Given the description of an element on the screen output the (x, y) to click on. 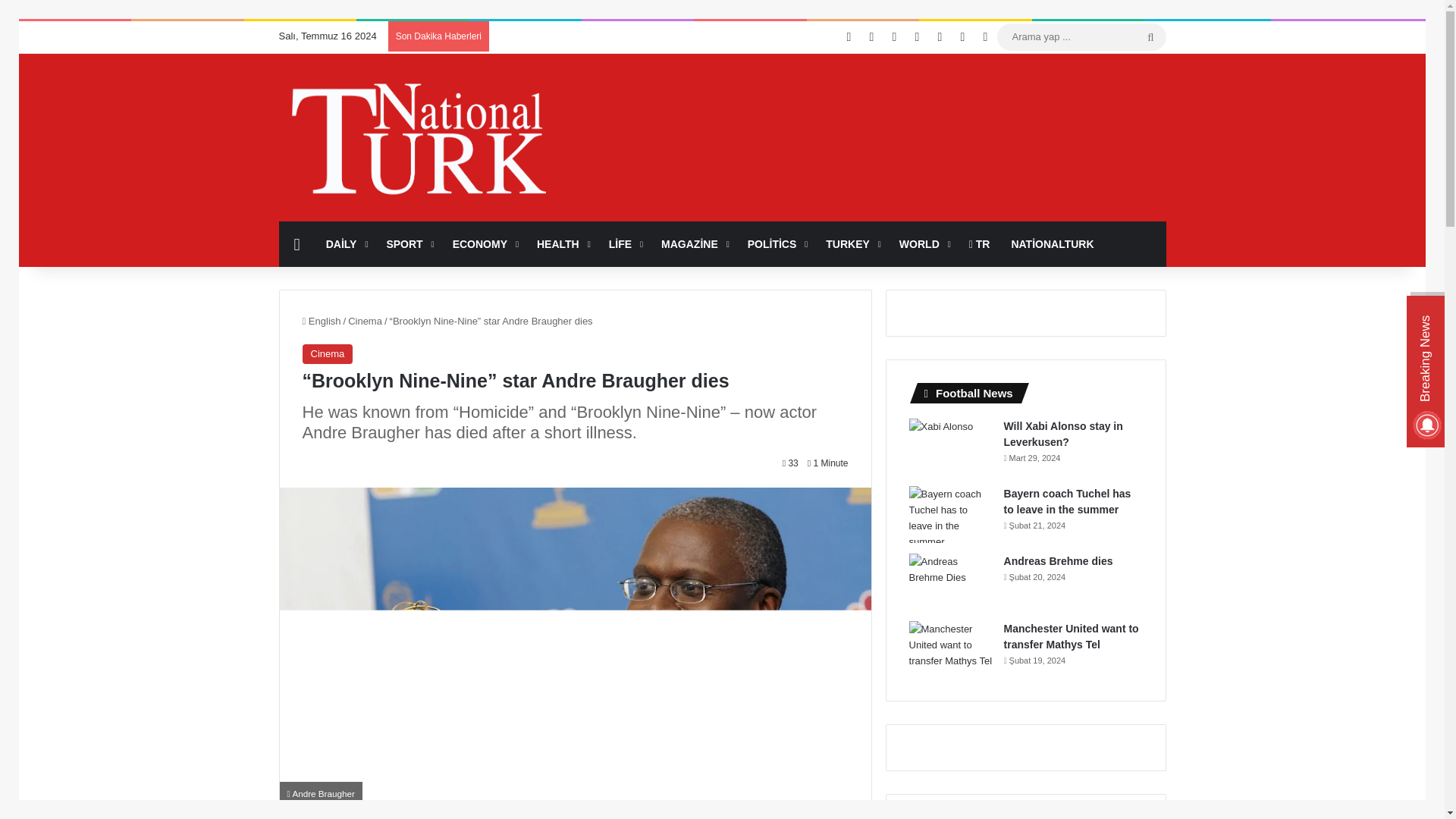
NationalTurk (419, 138)
TURKEY (851, 243)
Arama yap ... (1080, 36)
Arama yap ... (1150, 36)
MAGAZINE (693, 243)
LIFE (624, 243)
DAILY (345, 243)
POLITICS (775, 243)
SPORT (408, 243)
HEALTH (561, 243)
ECONOMY (483, 243)
